Given the description of an element on the screen output the (x, y) to click on. 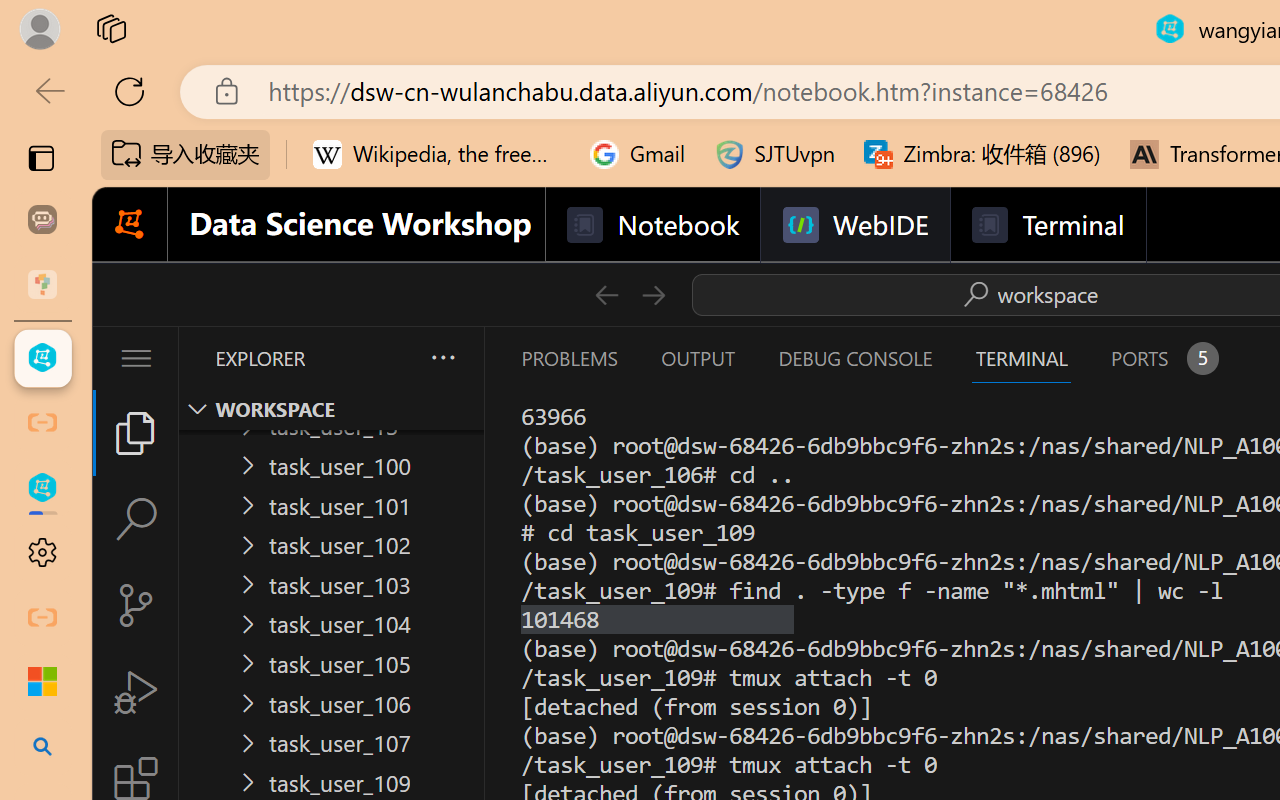
SJTUvpn (774, 154)
Class: menubar compact overflow-menu-only (135, 358)
Wikipedia, the free encyclopedia (437, 154)
Run and Debug (Ctrl+Shift+D) (135, 692)
Go Forward (Alt+RightArrow) (652, 294)
Class: actions-container (1027, 294)
Terminal (Ctrl+`) (1021, 358)
Source Control (Ctrl+Shift+G) (135, 604)
